Given the description of an element on the screen output the (x, y) to click on. 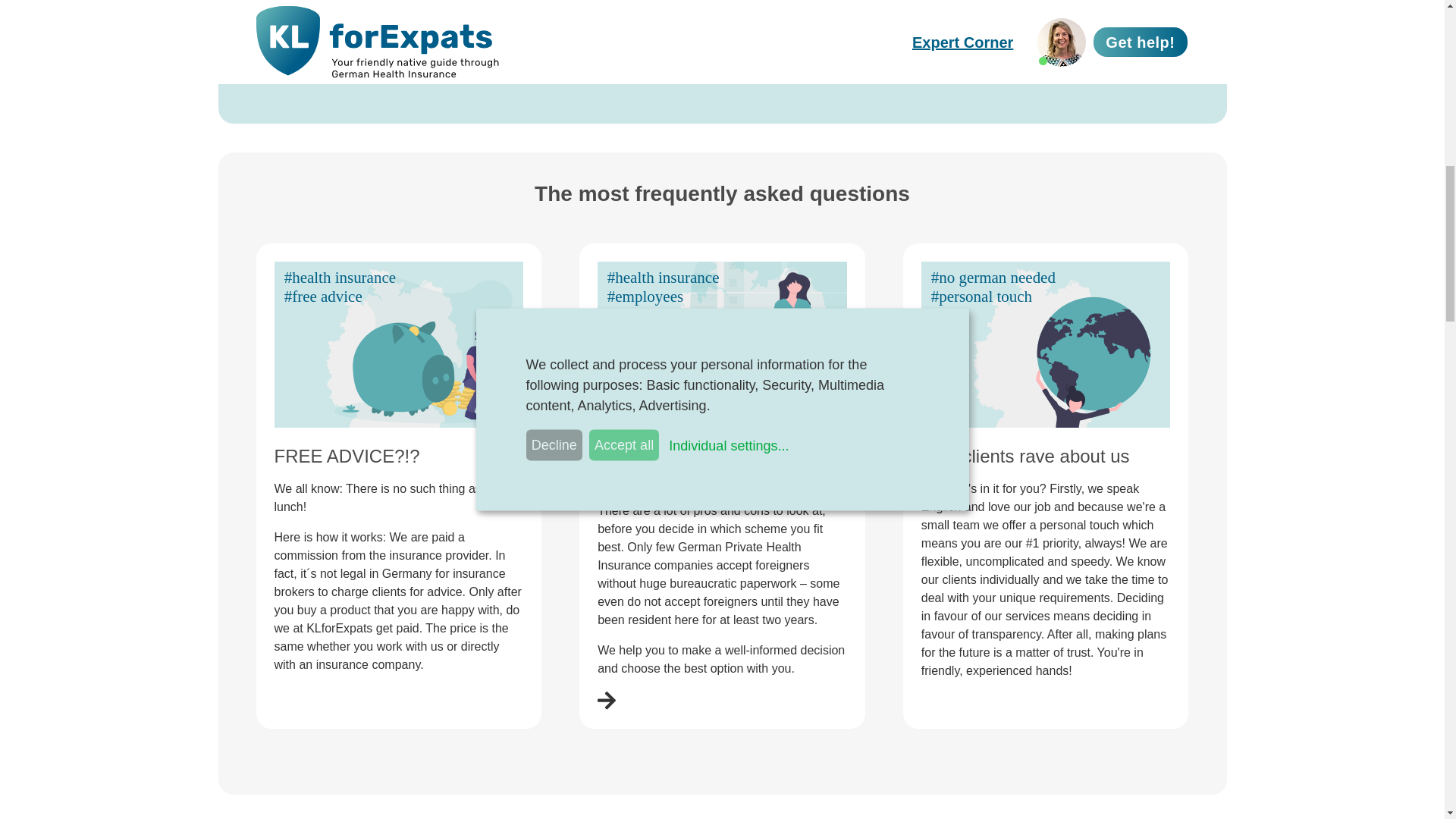
Get in touch with us today! (857, 65)
